Given the description of an element on the screen output the (x, y) to click on. 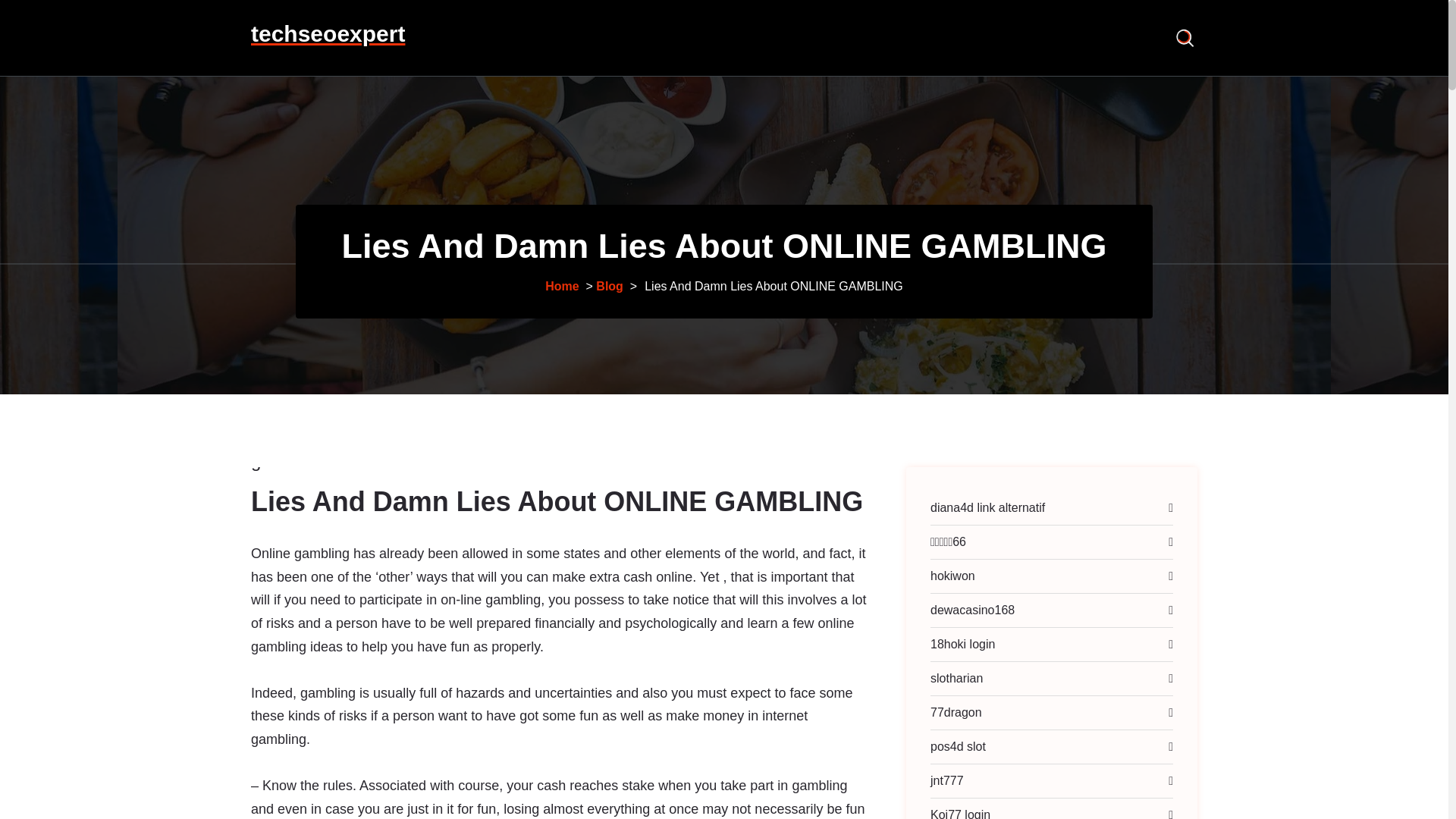
77dragon (964, 712)
Blog (609, 285)
18hoki login (970, 644)
techseoexpert (327, 33)
pos4d slot (966, 745)
hokiwon (961, 575)
slotharian (965, 677)
jnt777 (955, 780)
dewacasino168 (981, 609)
Koi77 login (287, 529)
Home (968, 808)
diana4d link alternatif (561, 285)
